Given the description of an element on the screen output the (x, y) to click on. 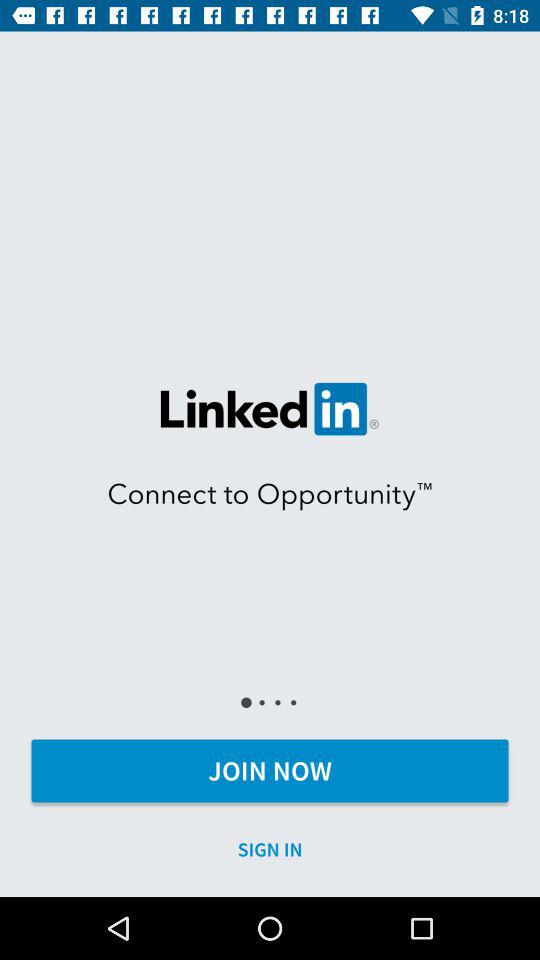
launch the sign in icon (269, 849)
